Given the description of an element on the screen output the (x, y) to click on. 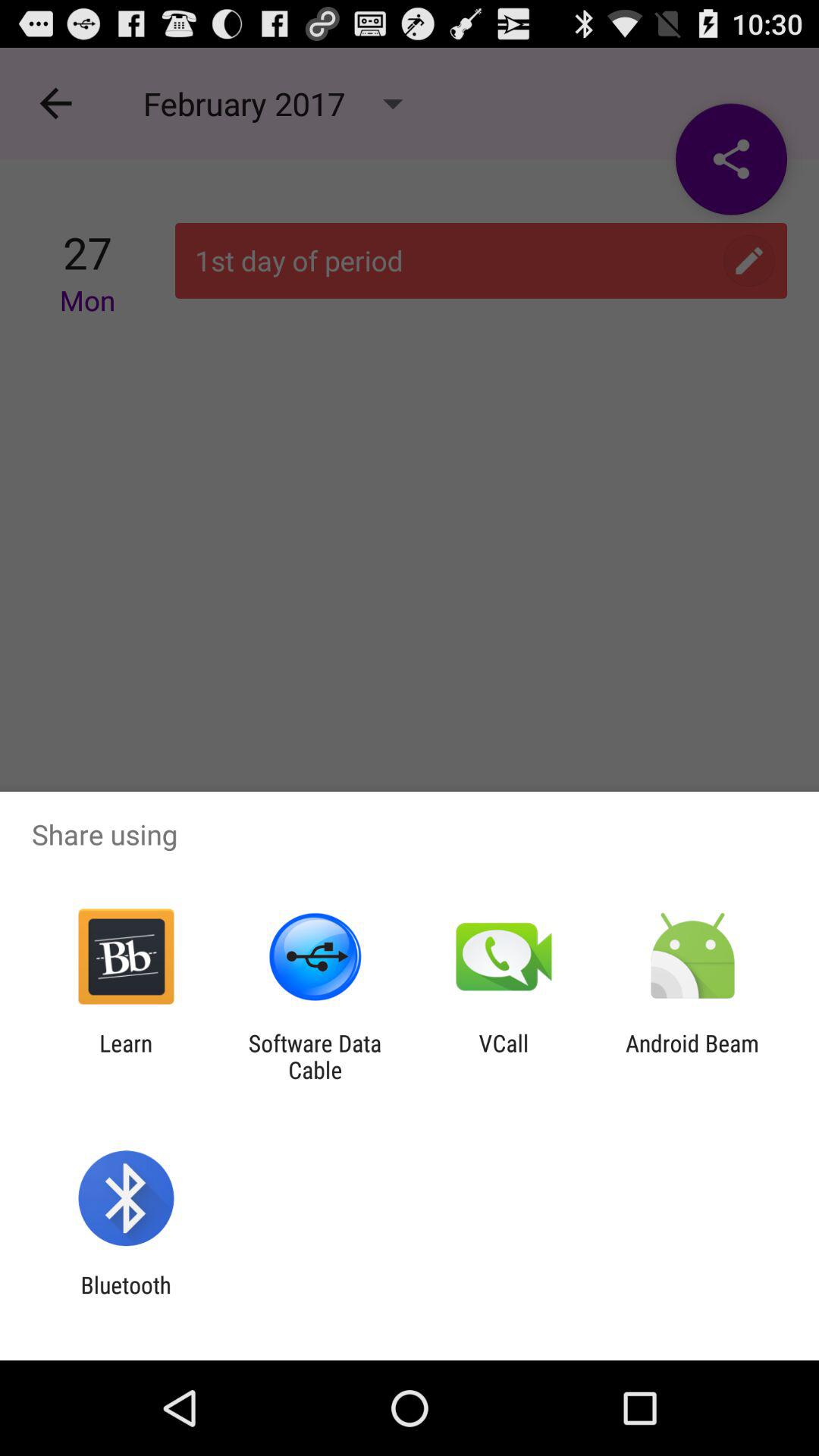
tap app to the right of the software data cable icon (503, 1056)
